Given the description of an element on the screen output the (x, y) to click on. 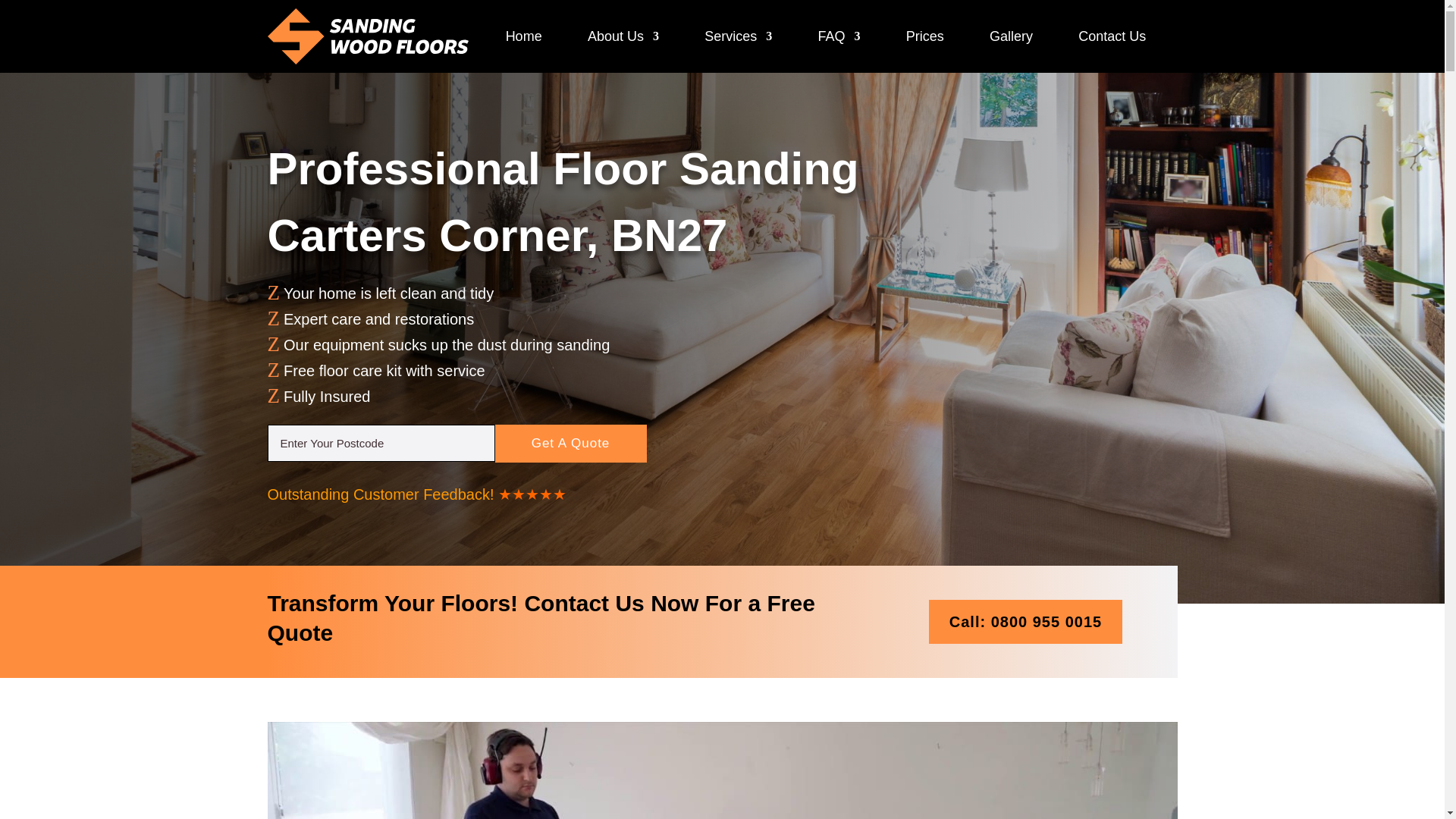
Home (523, 36)
Services (737, 36)
About Us (623, 36)
maxresdefault-1-1 (721, 770)
FAQ (838, 36)
